Given the description of an element on the screen output the (x, y) to click on. 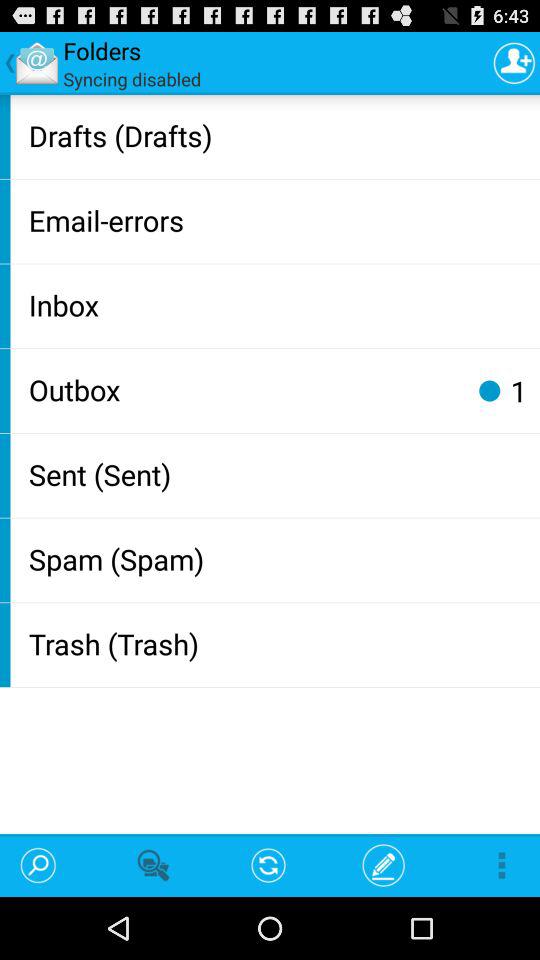
tap the app to the right of the syncing disabled item (514, 62)
